Given the description of an element on the screen output the (x, y) to click on. 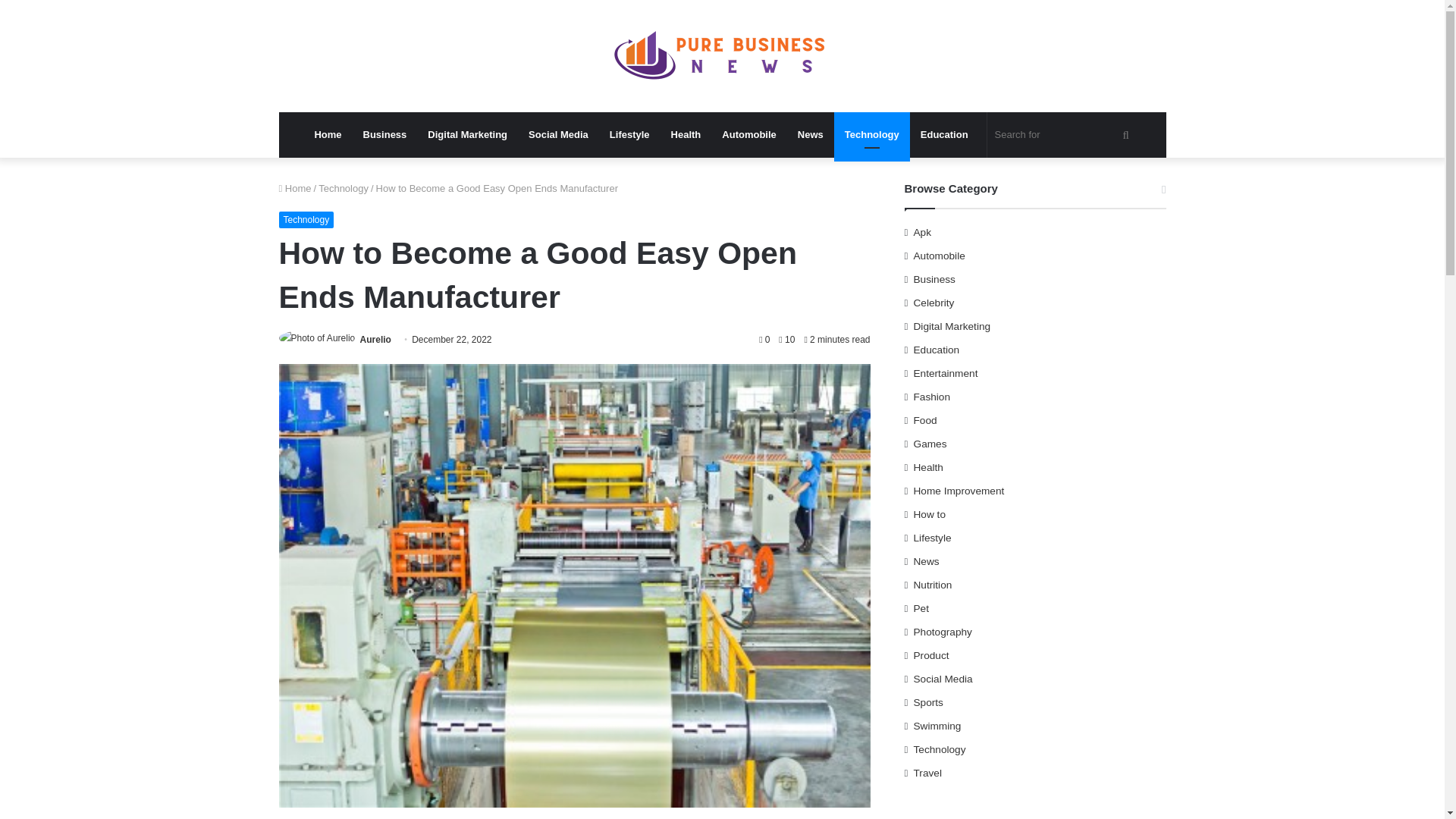
Search for (1064, 135)
Technology (872, 135)
Aurelio (375, 339)
Education (944, 135)
Pure Business News (721, 56)
Health (686, 135)
Lifestyle (629, 135)
Social Media (558, 135)
News (810, 135)
Technology (306, 219)
Digital Marketing (467, 135)
Technology (343, 188)
Automobile (749, 135)
Aurelio (375, 339)
Business (384, 135)
